Given the description of an element on the screen output the (x, y) to click on. 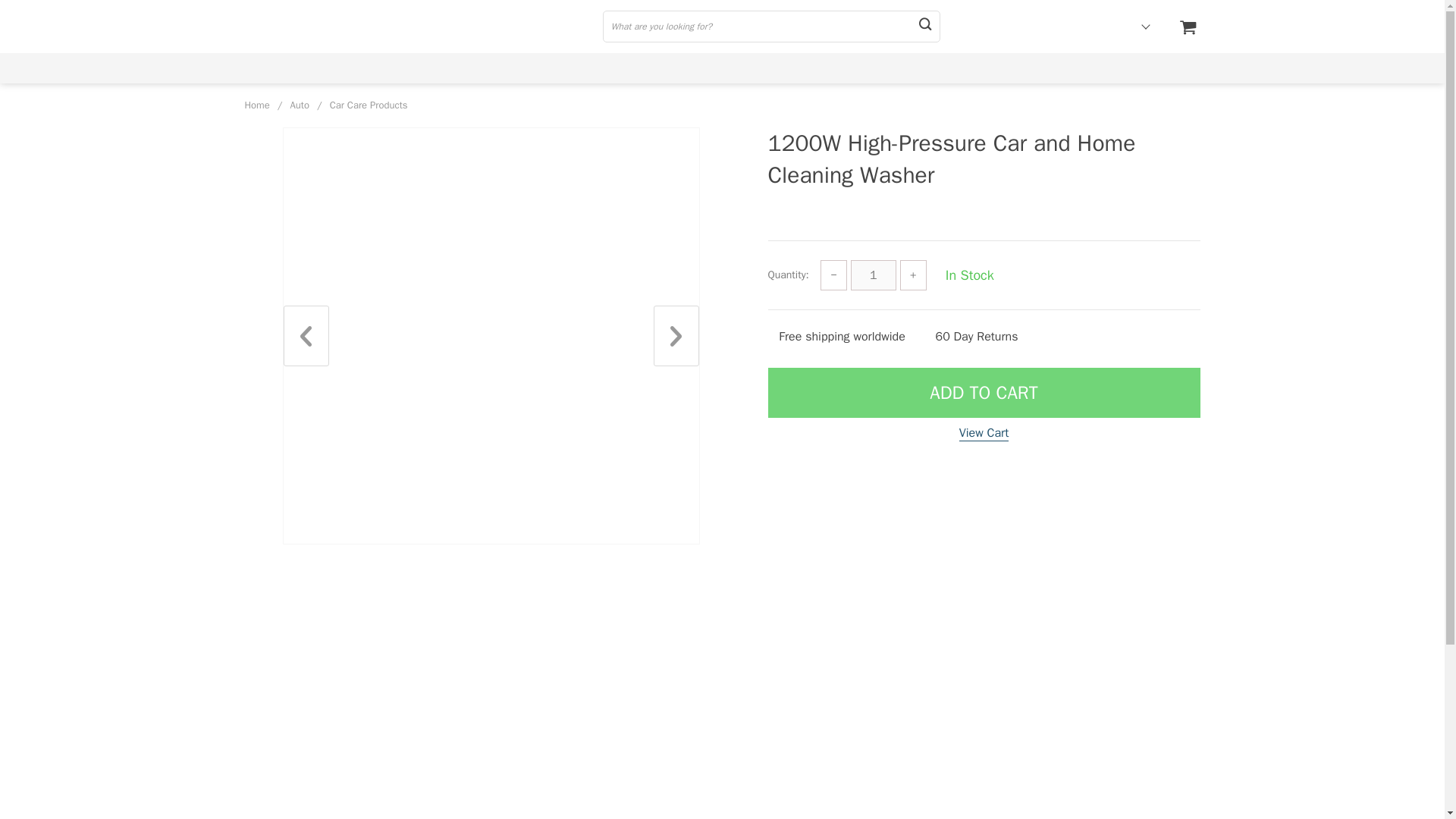
Car Care Products (368, 104)
1 (873, 275)
Home (256, 105)
Auto (298, 104)
ADD TO CART (983, 392)
